Given the description of an element on the screen output the (x, y) to click on. 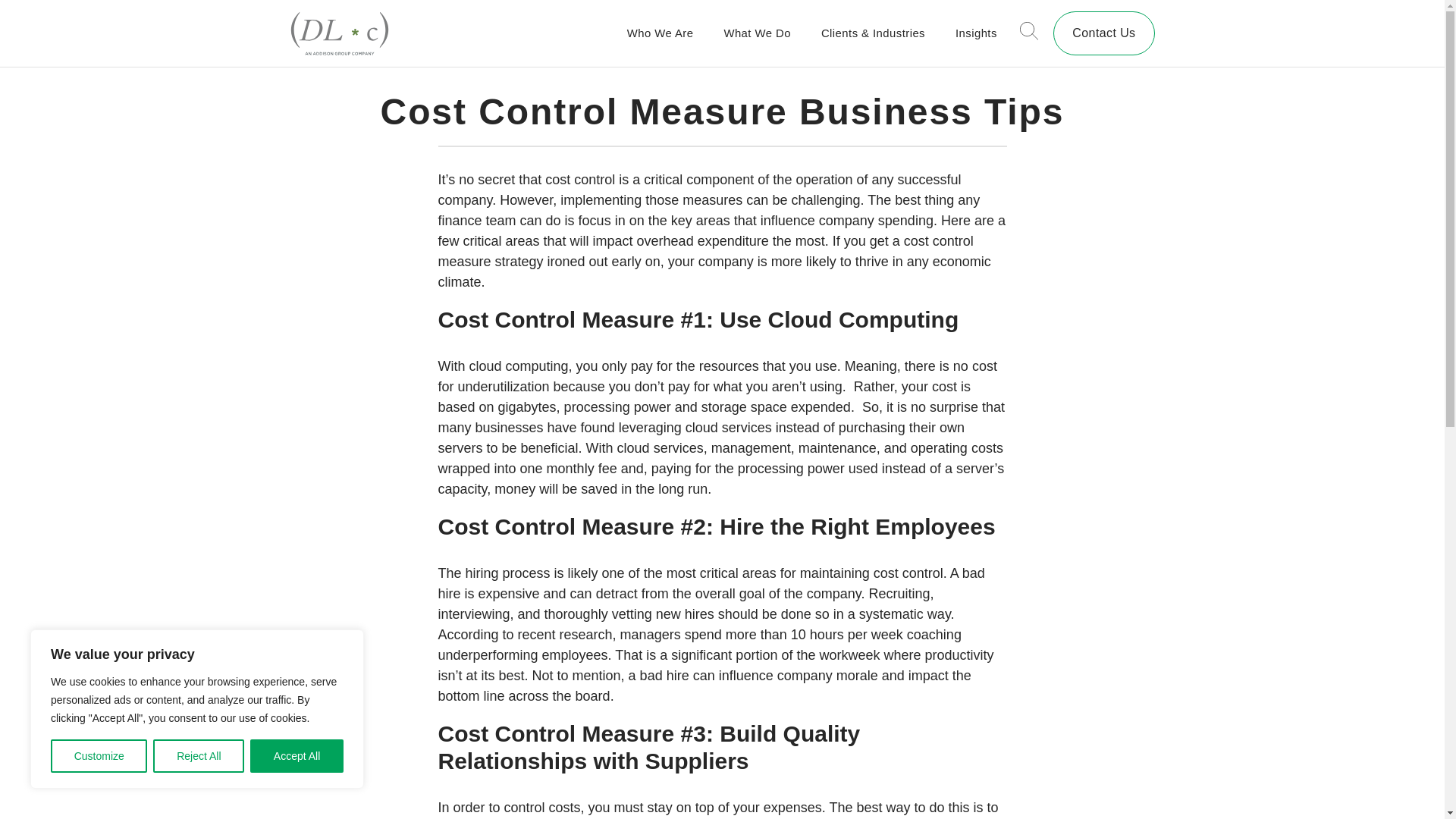
Accept All (296, 756)
Reject All (198, 756)
Contact Us (1103, 33)
Who We Are (660, 33)
Customize (98, 756)
Insights (976, 33)
What We Do (756, 33)
